Given the description of an element on the screen output the (x, y) to click on. 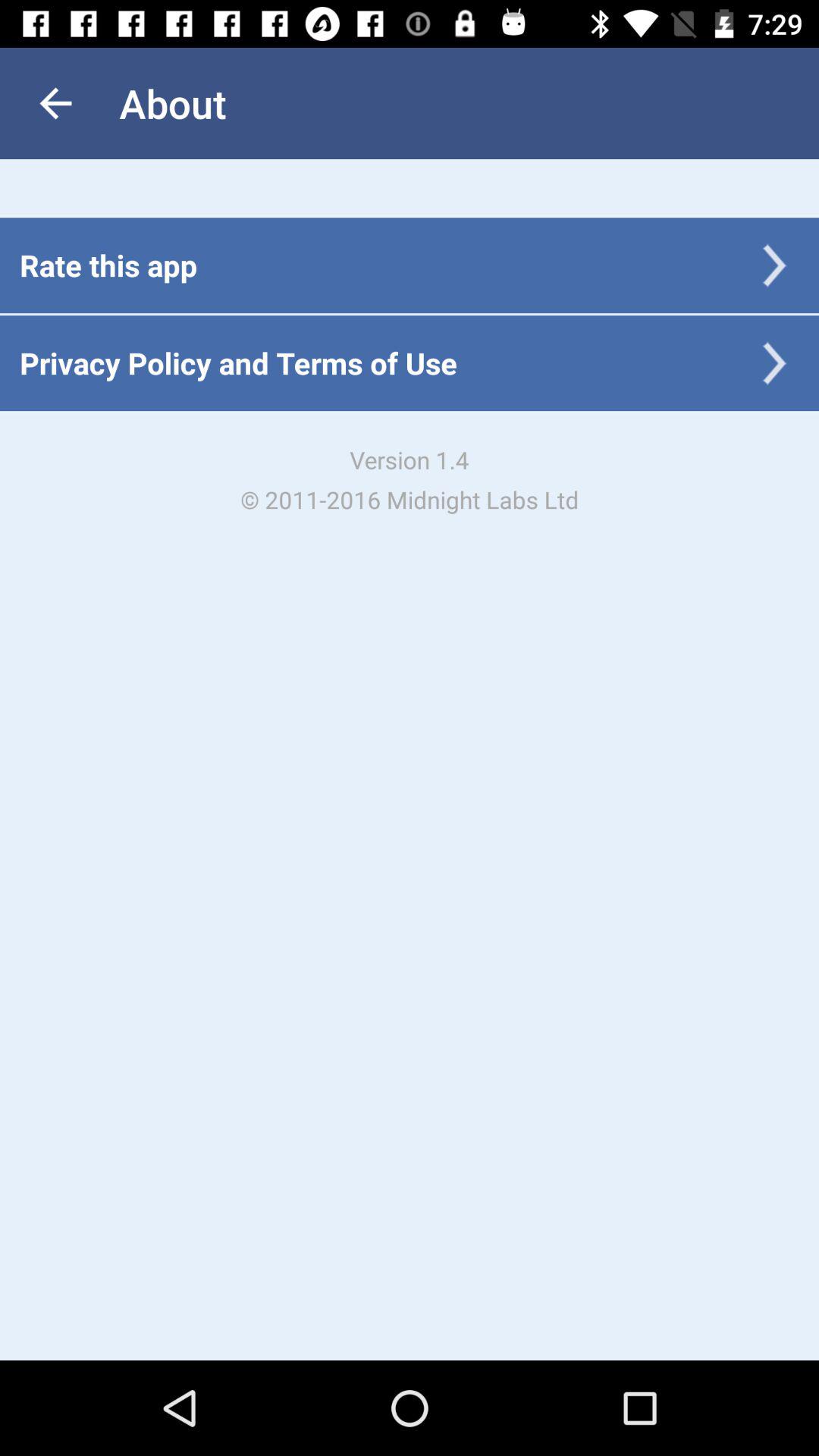
flip until the rate this app item (108, 265)
